Given the description of an element on the screen output the (x, y) to click on. 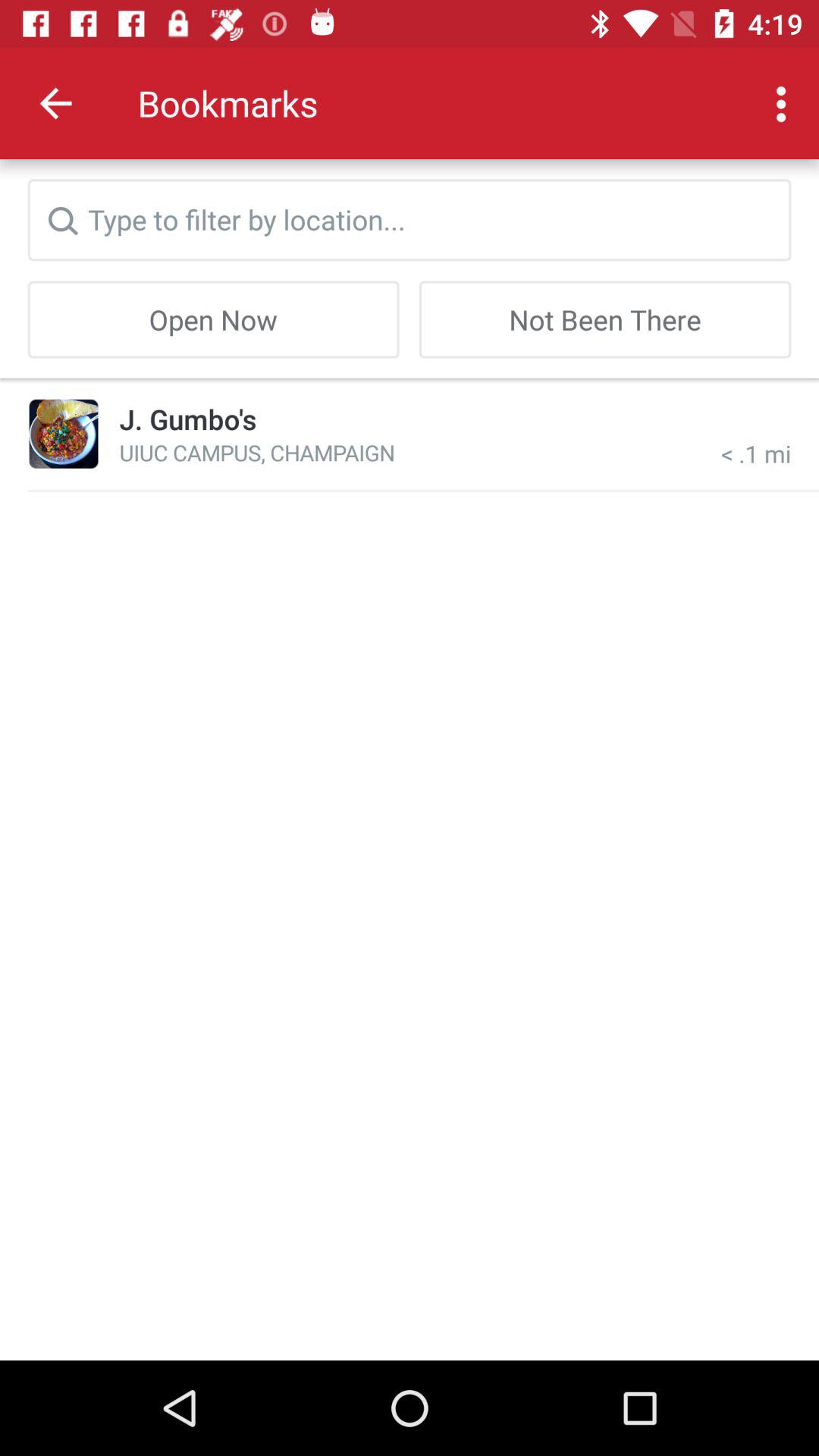
press icon below the open now item (63, 433)
